Given the description of an element on the screen output the (x, y) to click on. 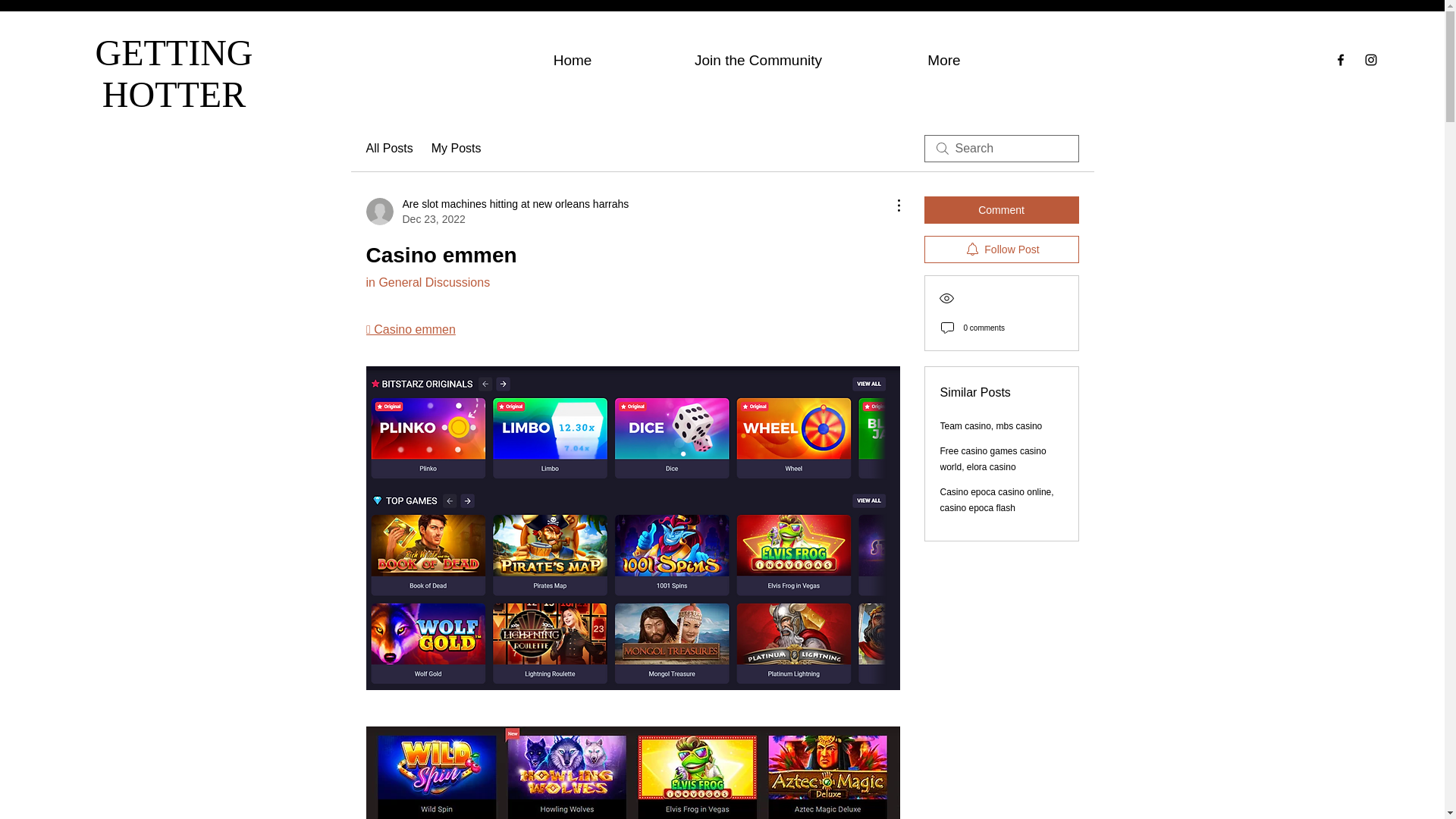
Follow Post (1000, 248)
All Posts (388, 148)
My Posts (455, 148)
GETTING HOTTER (174, 73)
Team casino, mbs casino (991, 425)
Home (572, 58)
Comment (1000, 209)
Free casino games casino world, elora casino (993, 458)
in General Discussions (427, 282)
